Given the description of an element on the screen output the (x, y) to click on. 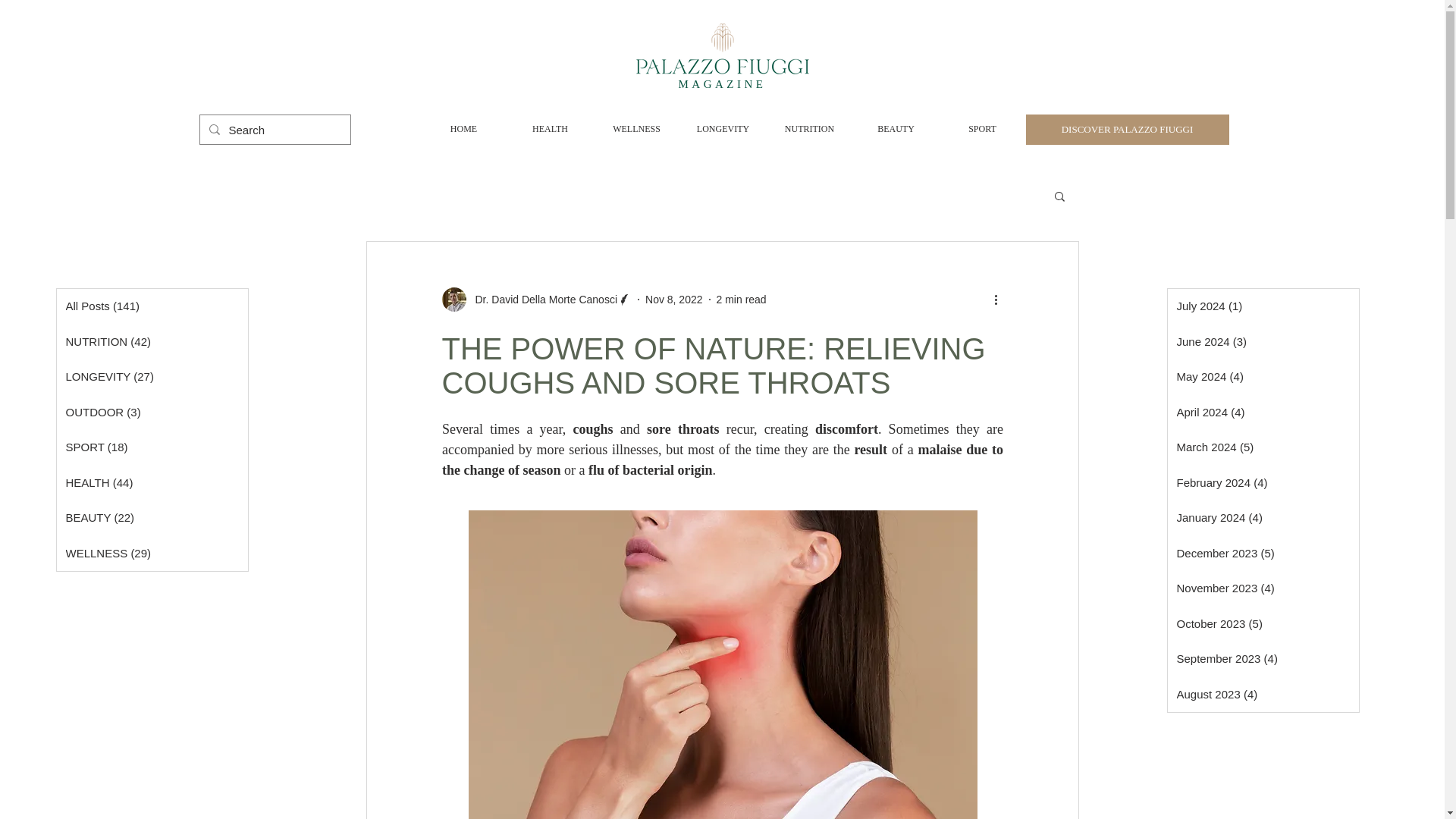
MAGAZINE (721, 83)
HOME (463, 129)
SPORT (982, 129)
NUTRITION (808, 129)
Nov 8, 2022 (674, 298)
DISCOVER PALAZZO FIUGGI (1126, 129)
HEALTH (549, 129)
WELLNESS (635, 129)
Dr. David Della Morte Canosci (541, 299)
2 min read (741, 298)
LONGEVITY (722, 129)
BEAUTY (895, 129)
